Given the description of an element on the screen output the (x, y) to click on. 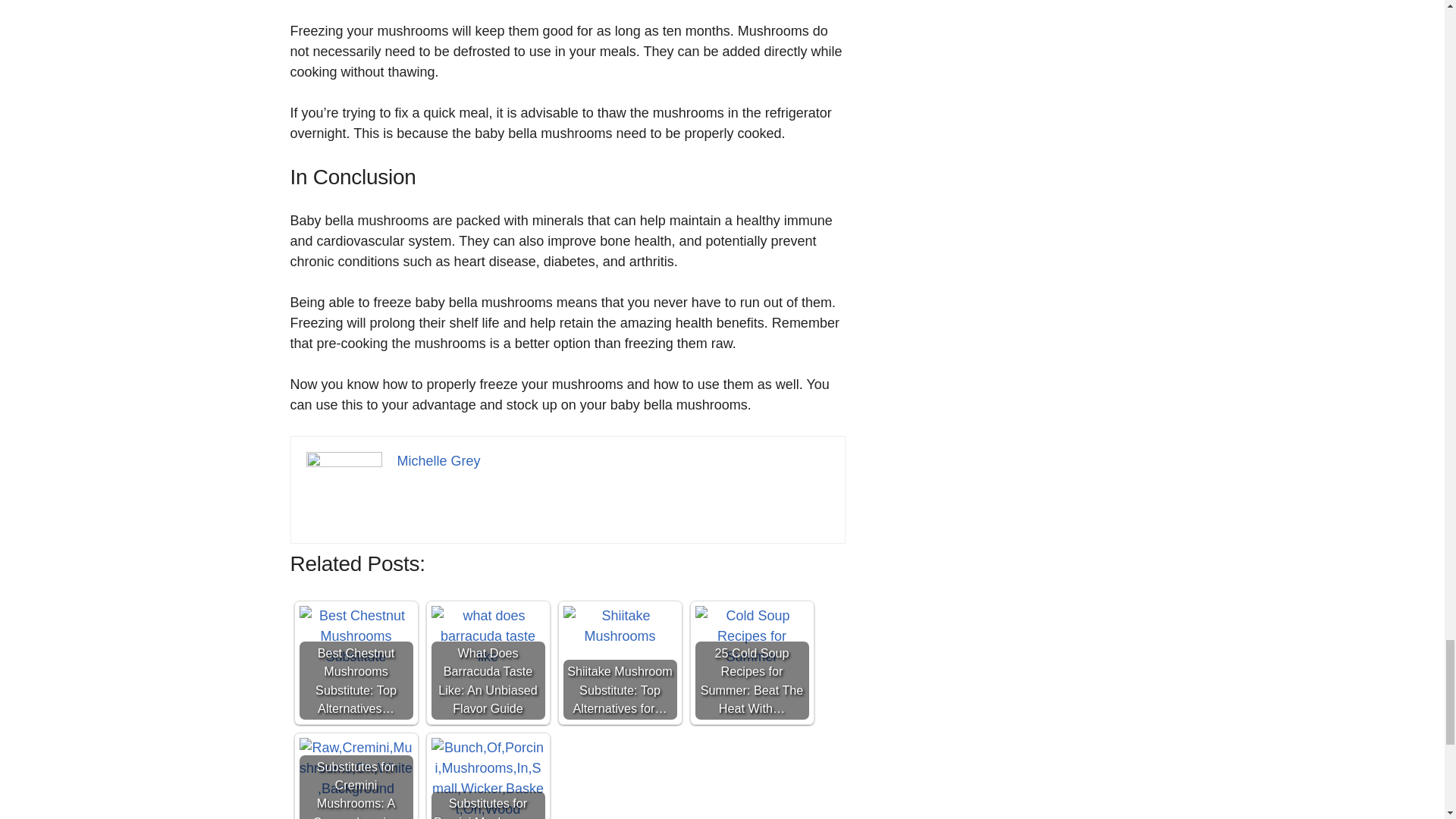
What Does Barracuda Taste Like: An Unbiased Flavor Guide (487, 662)
Michelle Grey (438, 460)
Substitutes for Cremini Mushrooms: A Comprehensive Guide (355, 778)
